Given the description of an element on the screen output the (x, y) to click on. 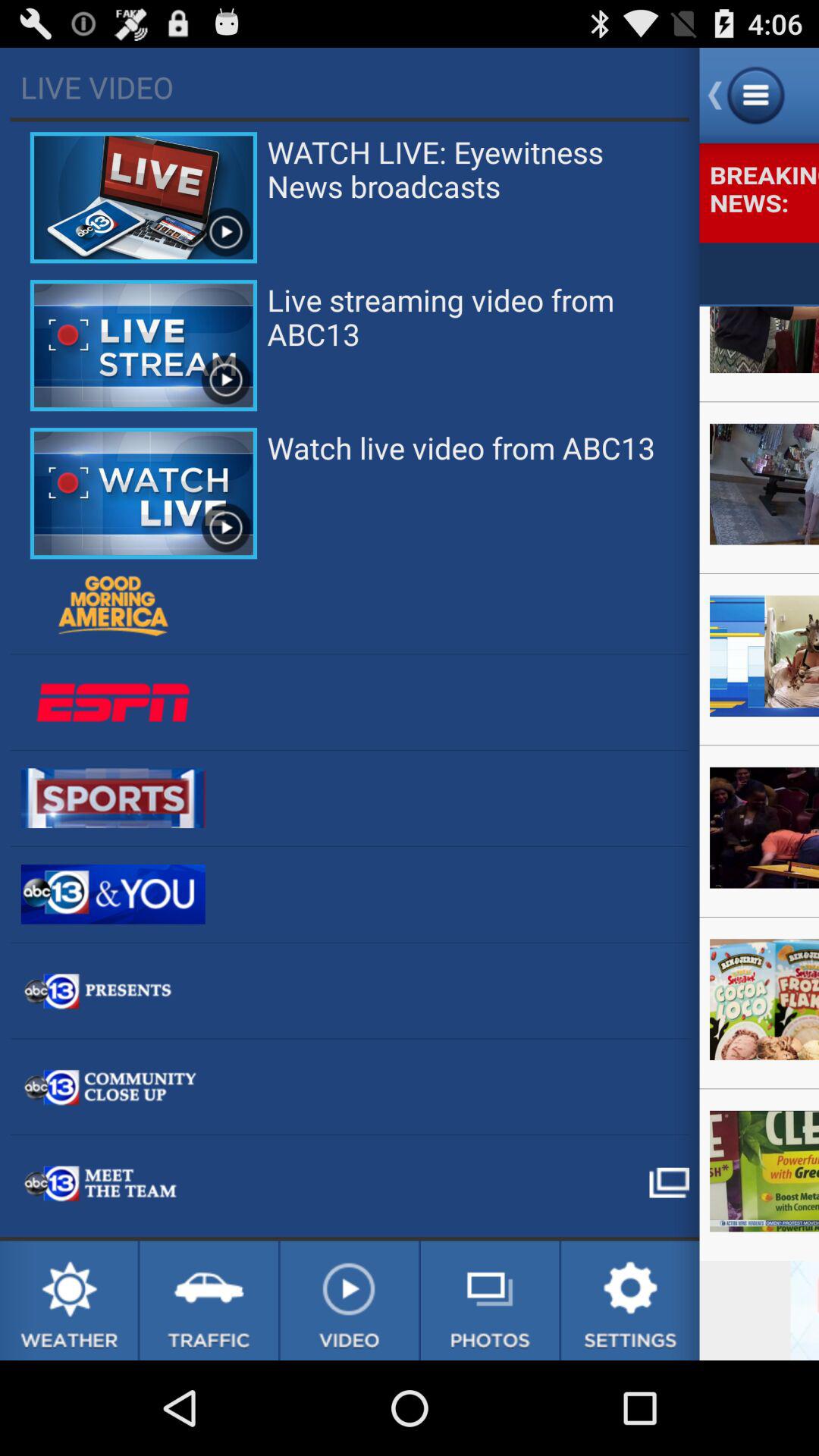
go to options (630, 1300)
